Given the description of an element on the screen output the (x, y) to click on. 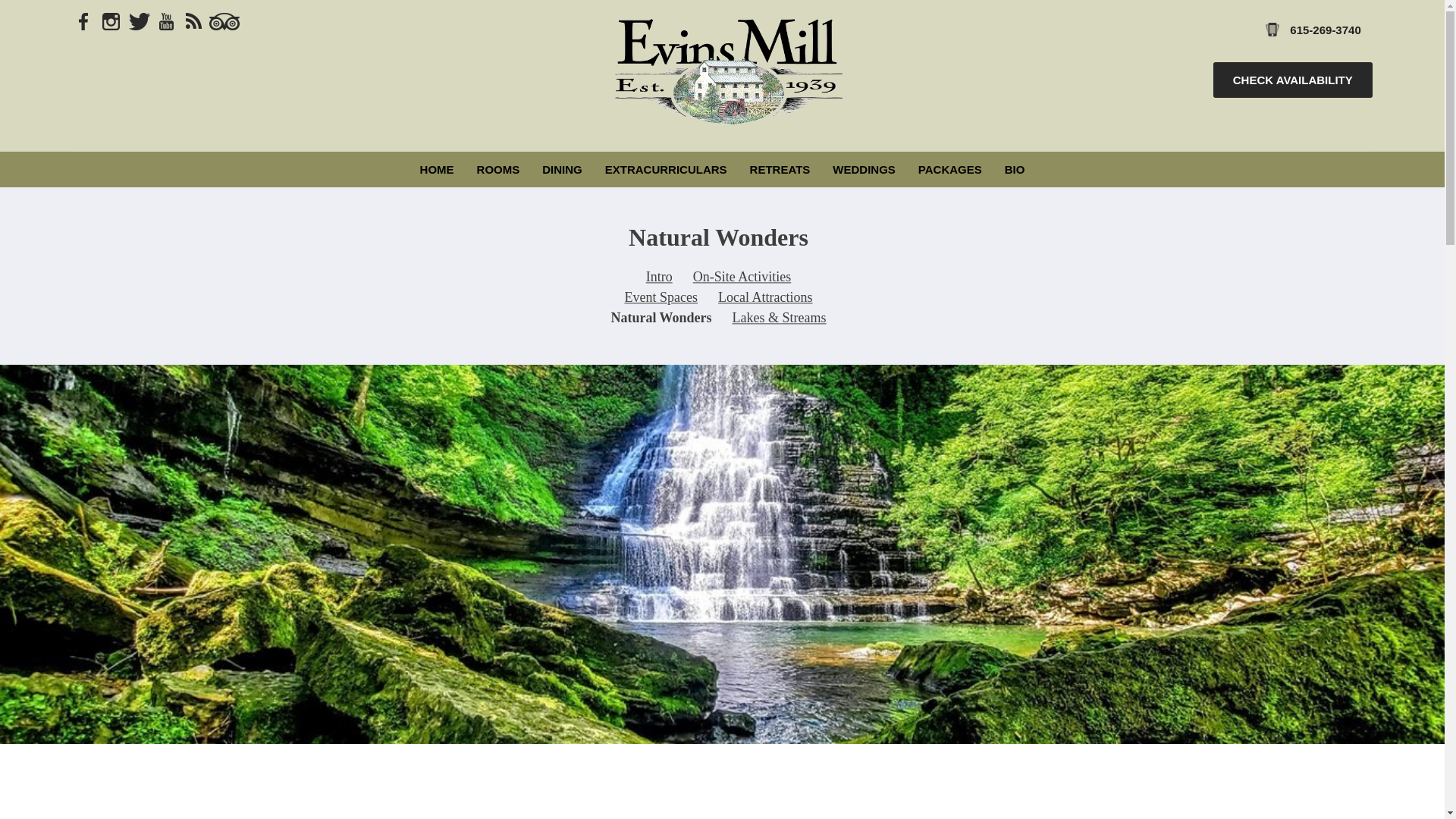
CHECK AVAILABILITY (1292, 79)
HOME (437, 169)
615-269-3740 (1313, 28)
ROOMS (498, 169)
EXTRACURRICULARS (666, 169)
DINING (562, 169)
